Given the description of an element on the screen output the (x, y) to click on. 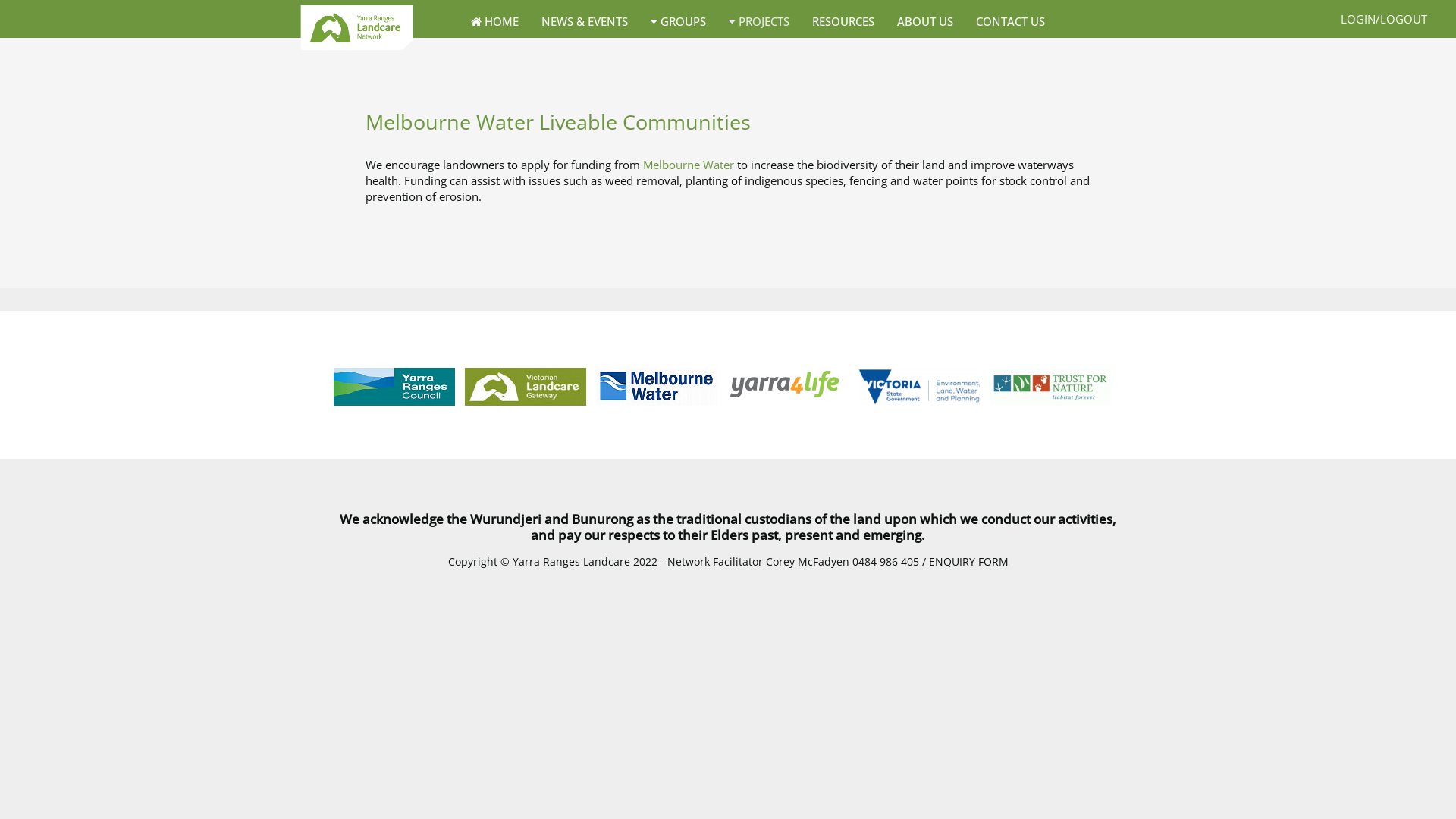
006 yarra4life logo Element type: hover (788, 383)
Melbourne Water Element type: text (688, 164)
003 landcare gateway victoria Element type: hover (526, 386)
LOGIN/LOGOUT Element type: text (1383, 18)
009 trust for nature logo 2020 Element type: hover (1051, 386)
007 delwp landcare Element type: hover (920, 386)
MENU Element type: text (876, 44)
CONTACT US Element type: text (1010, 21)
HOME Element type: text (494, 21)
ABOUT US Element type: text (924, 21)
RESOURCES Element type: text (842, 21)
ENQUIRY FORM Element type: text (967, 561)
004 Melbourne Water logo Element type: hover (657, 386)
PROJECTS Element type: text (758, 21)
002 YRC Logo Element type: hover (395, 386)
NEWS & EVENTS Element type: text (584, 21)
